Given the description of an element on the screen output the (x, y) to click on. 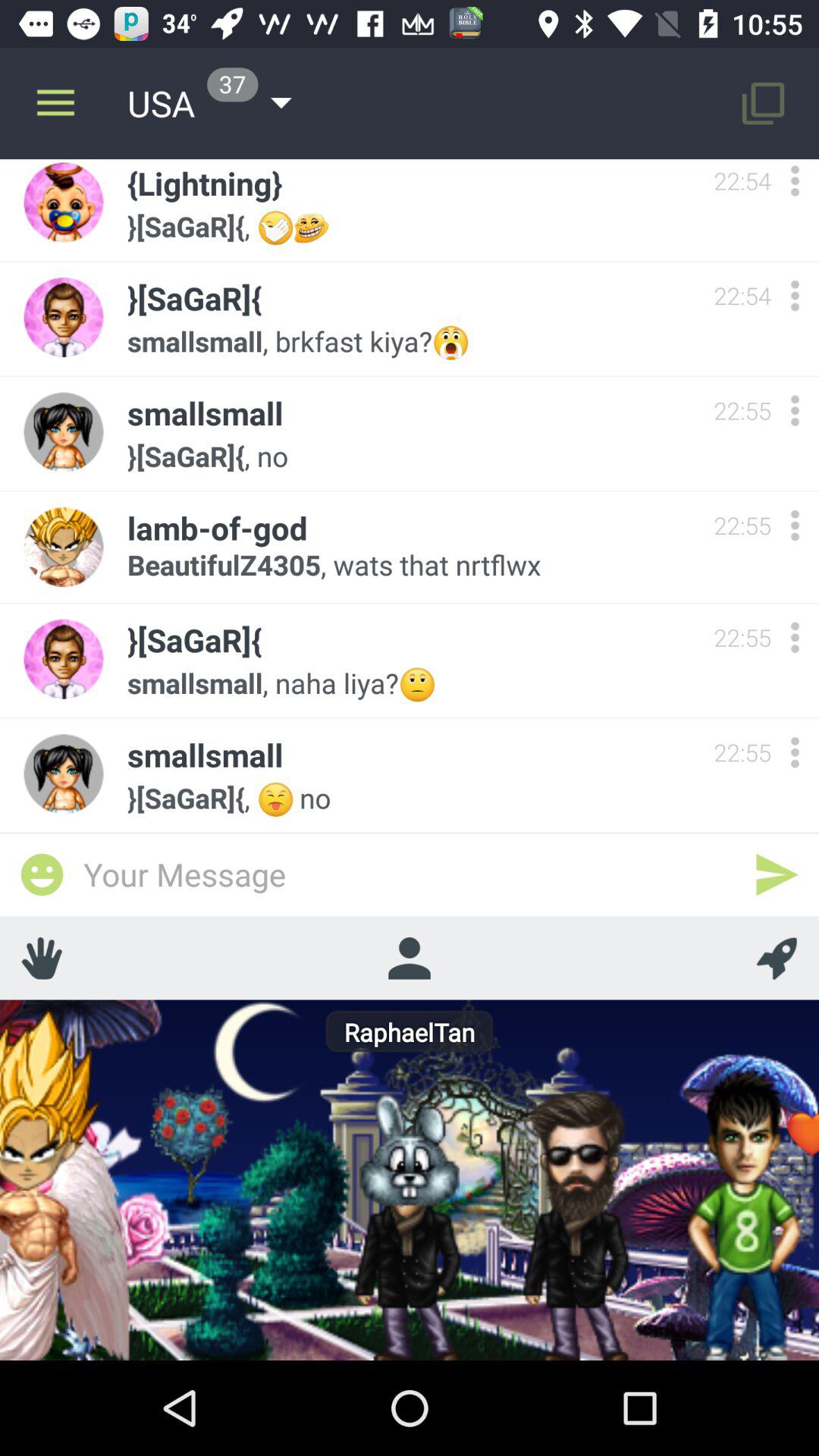
send massage (777, 874)
